Given the description of an element on the screen output the (x, y) to click on. 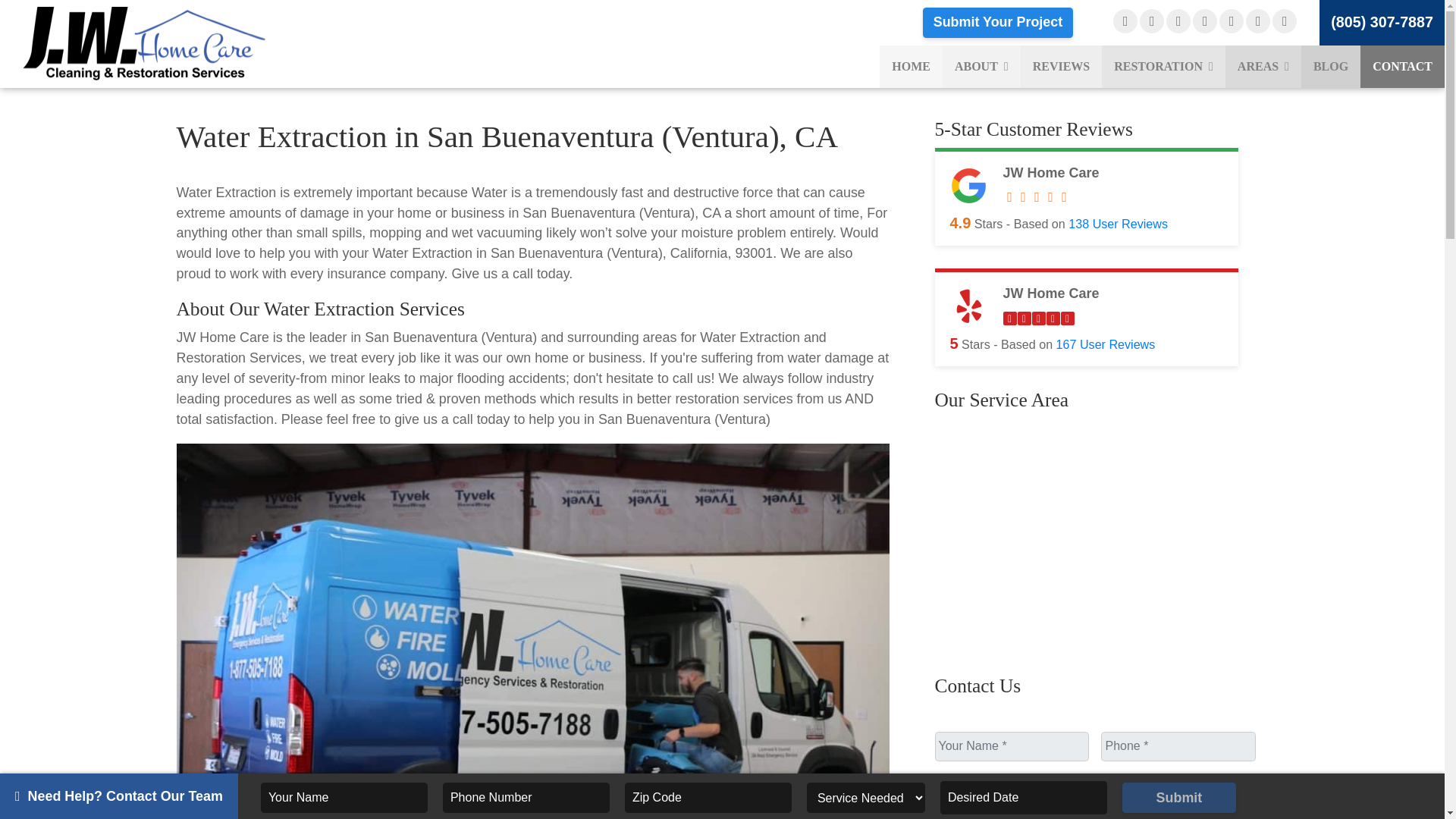
LinkedIn (1257, 21)
AREAS (1263, 66)
JW Home Care (174, 43)
User Reviews (1117, 223)
RESTORATION (1163, 66)
Submit (1179, 797)
Twitter (1204, 21)
Submit Your Project (997, 22)
Instagram (1231, 21)
HOME (910, 66)
Pinterest (1284, 21)
Yelp (1178, 21)
User Reviews (1106, 344)
ABOUT (981, 66)
Facebook (1125, 21)
